Given the description of an element on the screen output the (x, y) to click on. 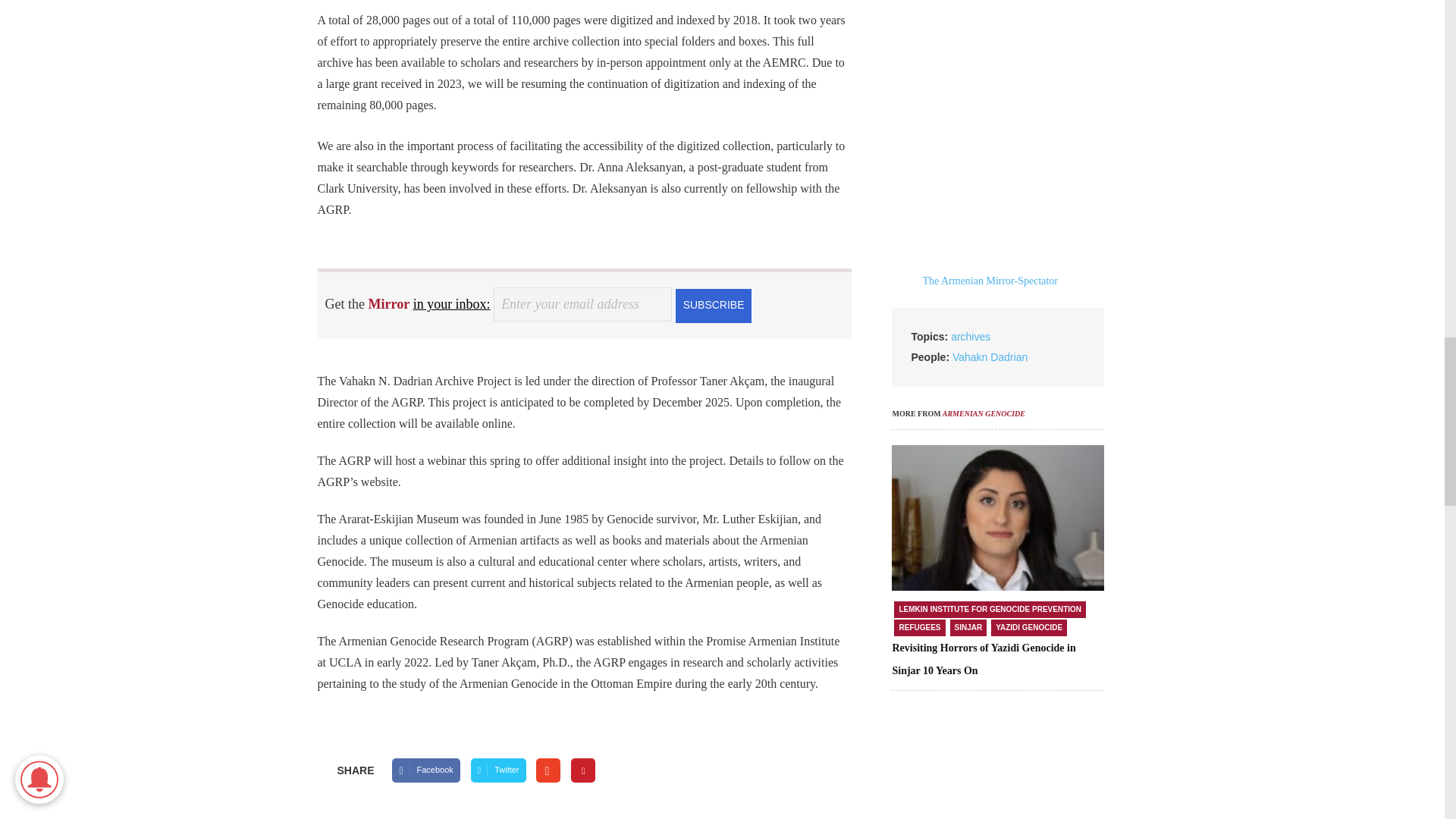
SUBSCRIBE (713, 305)
Revisiting Horrors of Yazidi Genocide in Sinjar 10 Years On (983, 659)
Revisiting Horrors of Yazidi Genocide in Sinjar 10 Years On (997, 518)
